Given the description of an element on the screen output the (x, y) to click on. 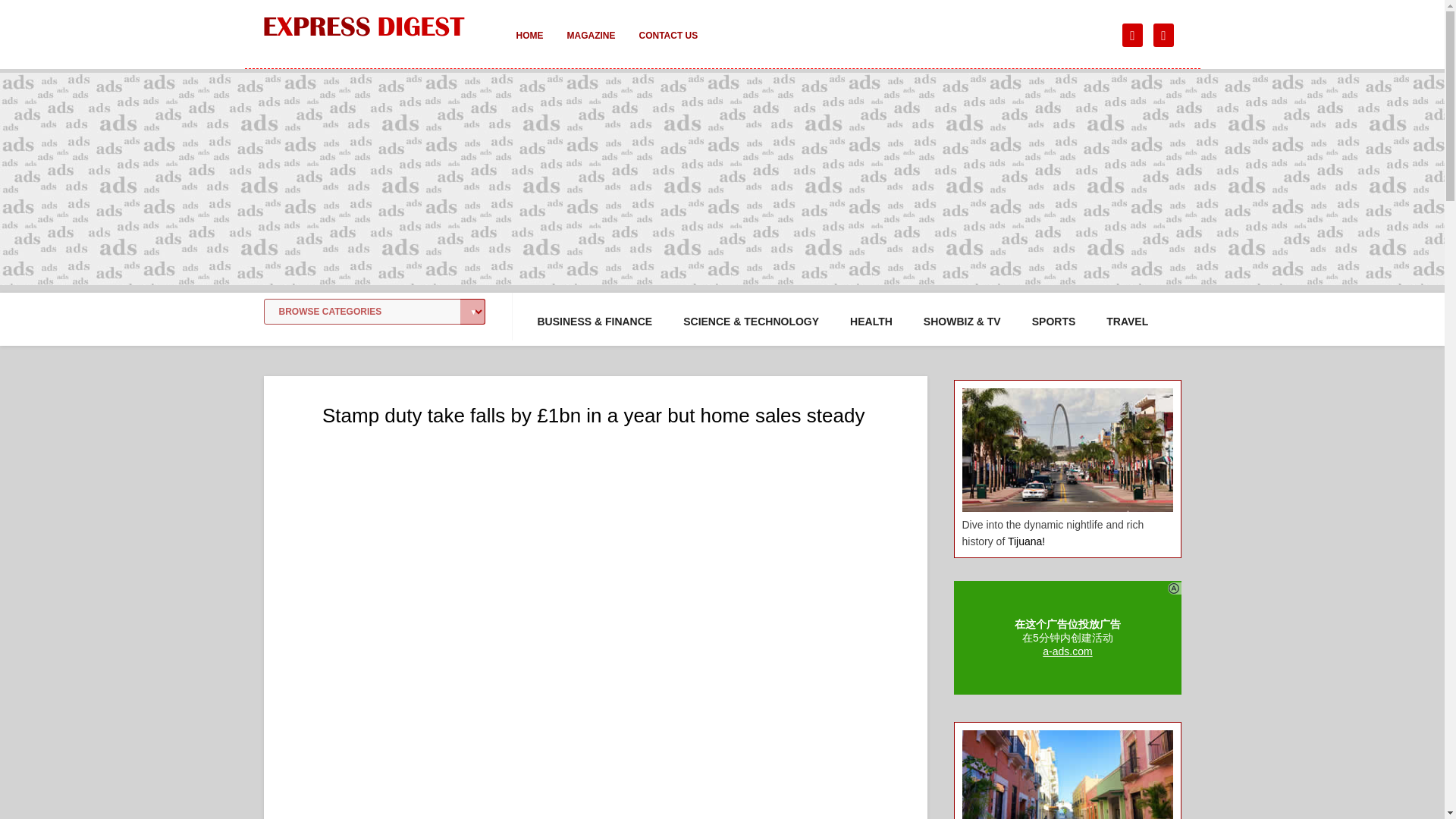
TRAVEL (1127, 321)
SPORTS (1053, 321)
MAGAZINE (590, 45)
Tijuana! (1026, 541)
HEALTH (871, 321)
CONTACT US (667, 45)
